Given the description of an element on the screen output the (x, y) to click on. 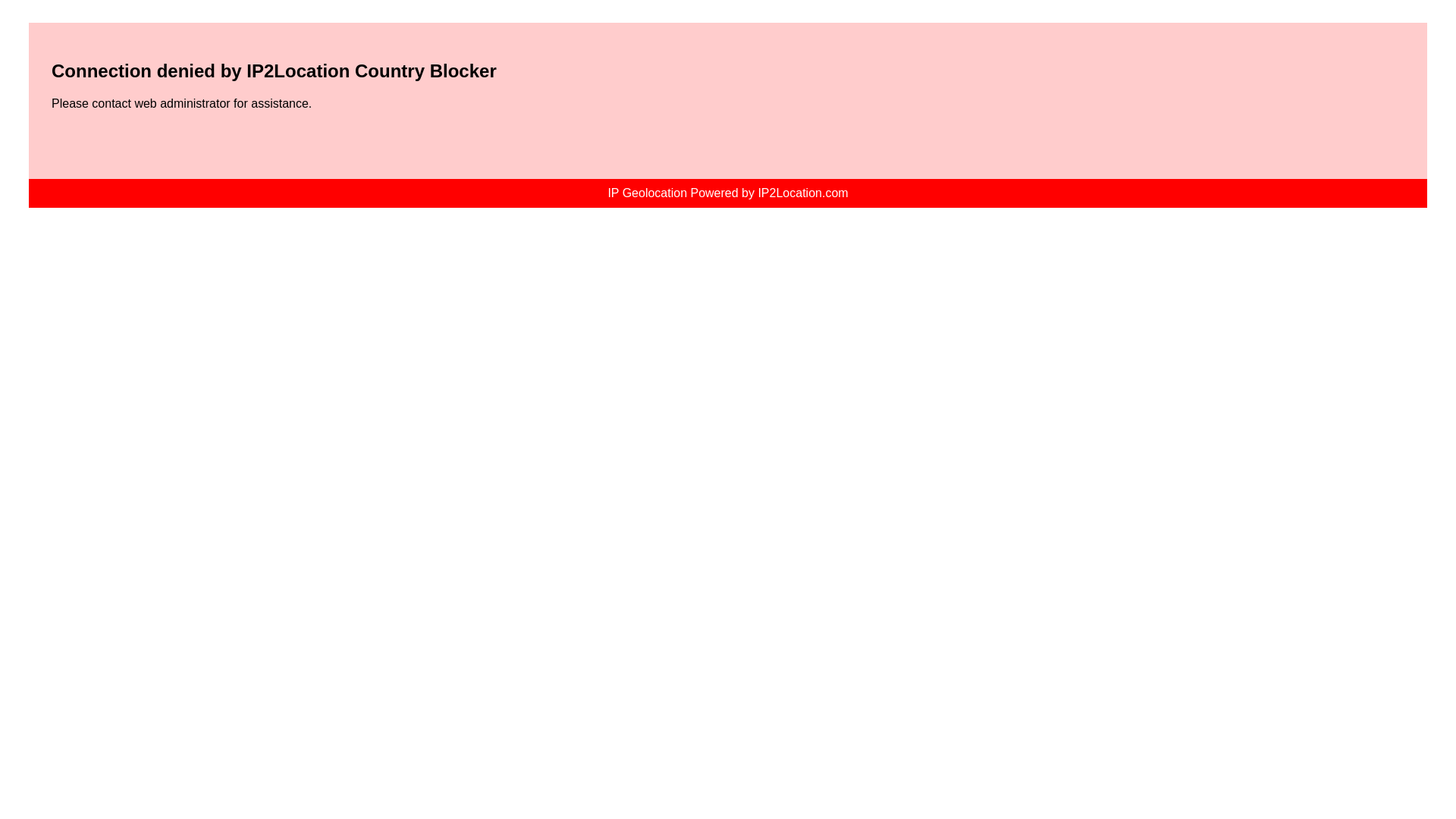
IP Geolocation Powered by IP2Location.com (727, 192)
